Given the description of an element on the screen output the (x, y) to click on. 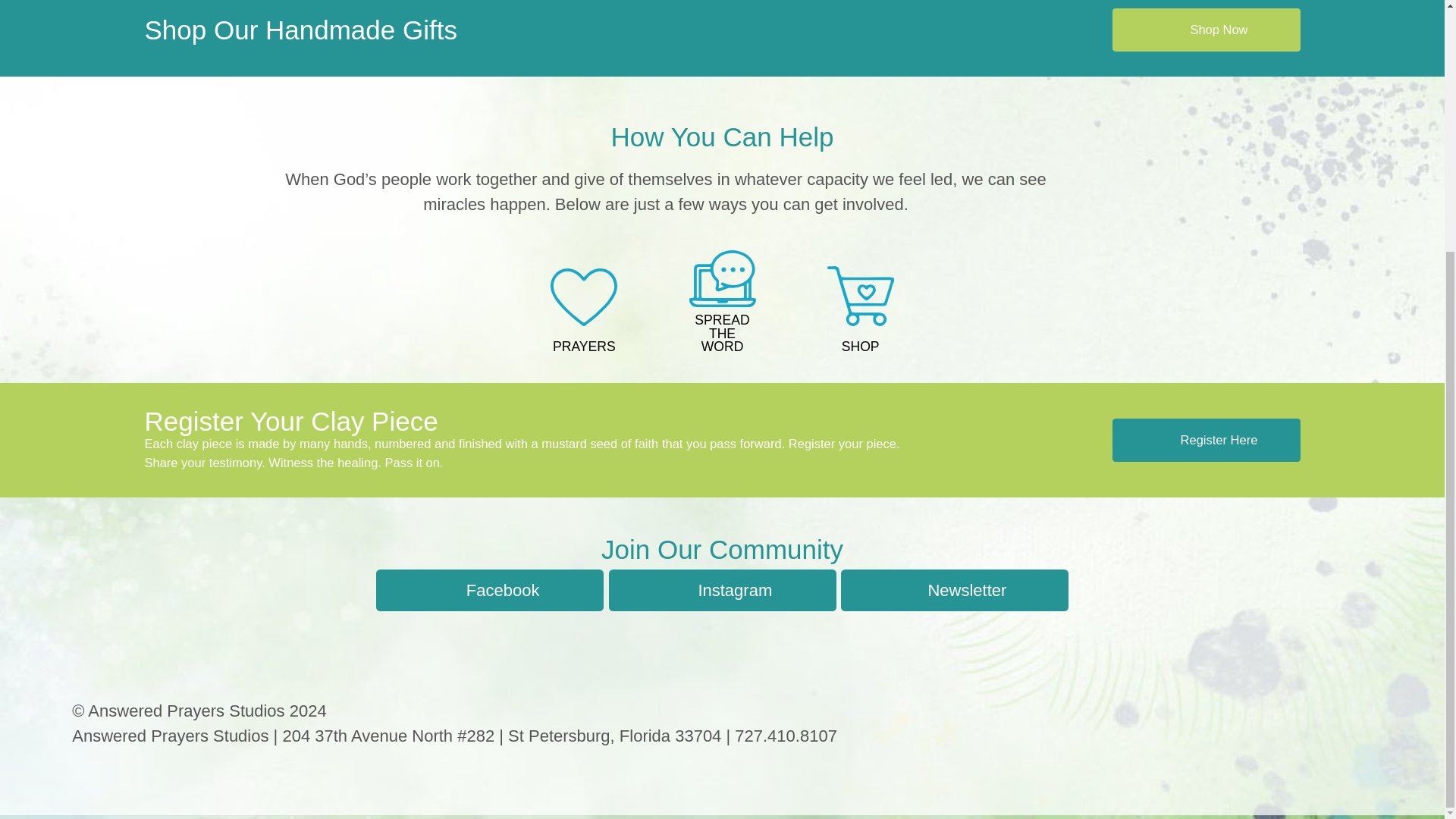
Instagram (721, 589)
Shop Now (1206, 30)
Facebook (489, 589)
Register Here (1206, 440)
PRAYERS (583, 312)
Newsletter (954, 589)
SPREAD THE WORD (721, 303)
SHOP (860, 311)
